Given the description of an element on the screen output the (x, y) to click on. 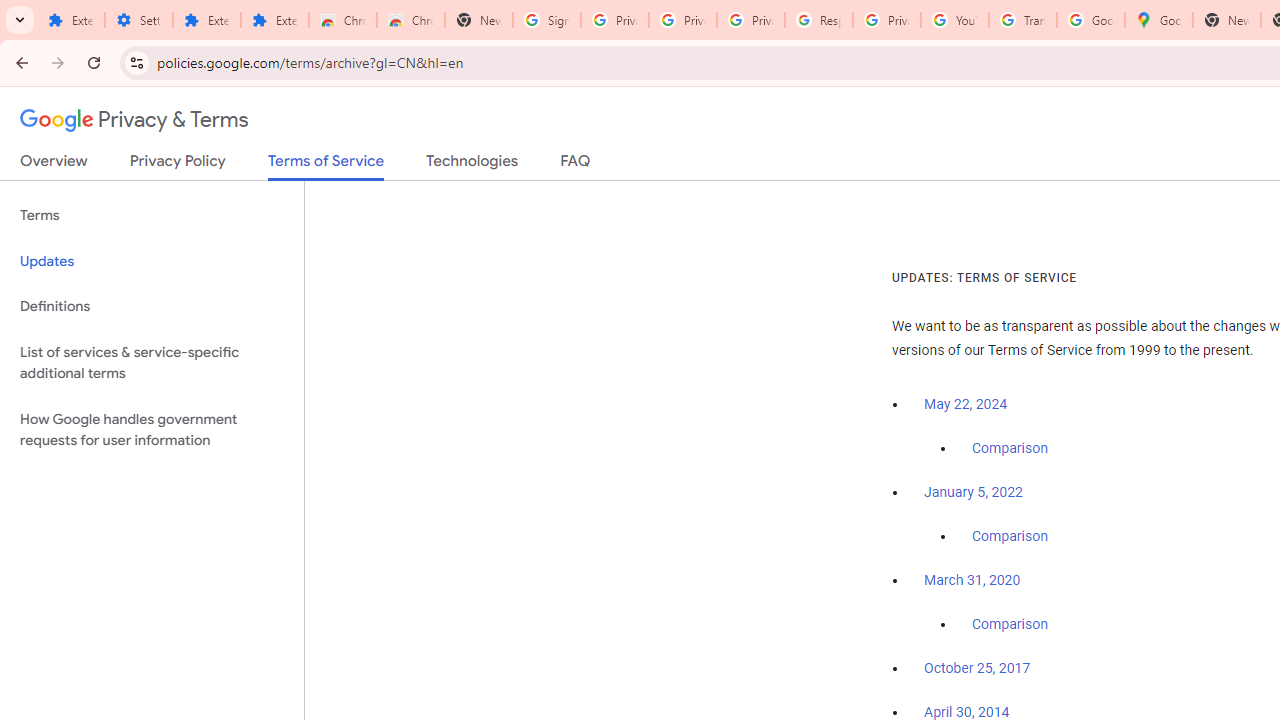
Chrome Web Store - Themes (411, 20)
Extensions (274, 20)
October 25, 2017 (977, 669)
